Given the description of an element on the screen output the (x, y) to click on. 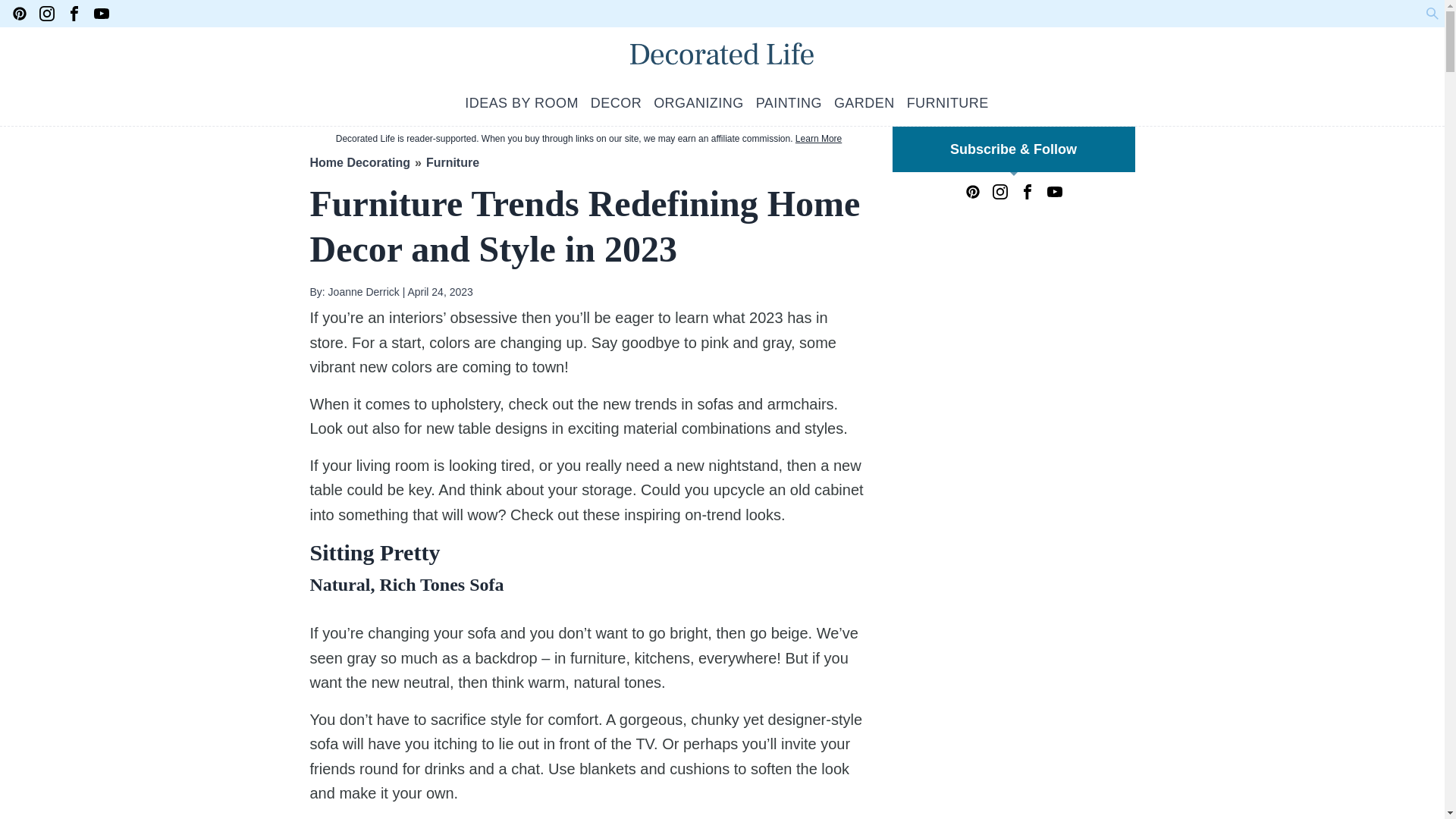
Learn More (817, 138)
IDEAS BY ROOM (521, 102)
Facebook (73, 13)
Joanne Derrick (361, 291)
FURNITURE (947, 102)
Instagram (999, 191)
Furniture (452, 162)
ORGANIZING (698, 102)
DECOR (616, 102)
Home Decorating (358, 162)
